Given the description of an element on the screen output the (x, y) to click on. 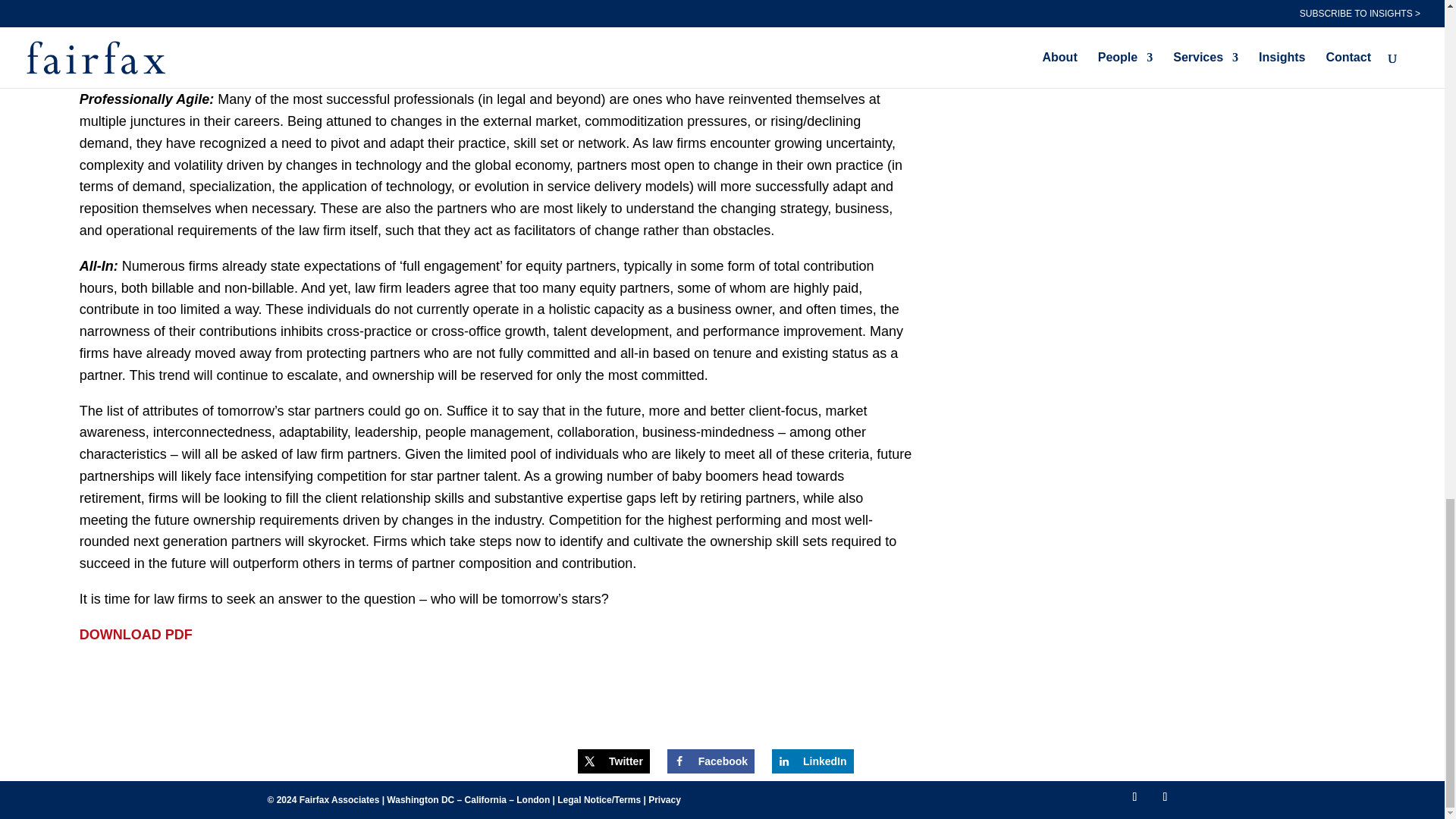
Share on X (613, 761)
DOWNLOAD PDF (136, 634)
Share on Facebook (710, 761)
Follow on LinkedIn (1164, 796)
Share on LinkedIn (812, 761)
Follow on X (1134, 796)
